Given the description of an element on the screen output the (x, y) to click on. 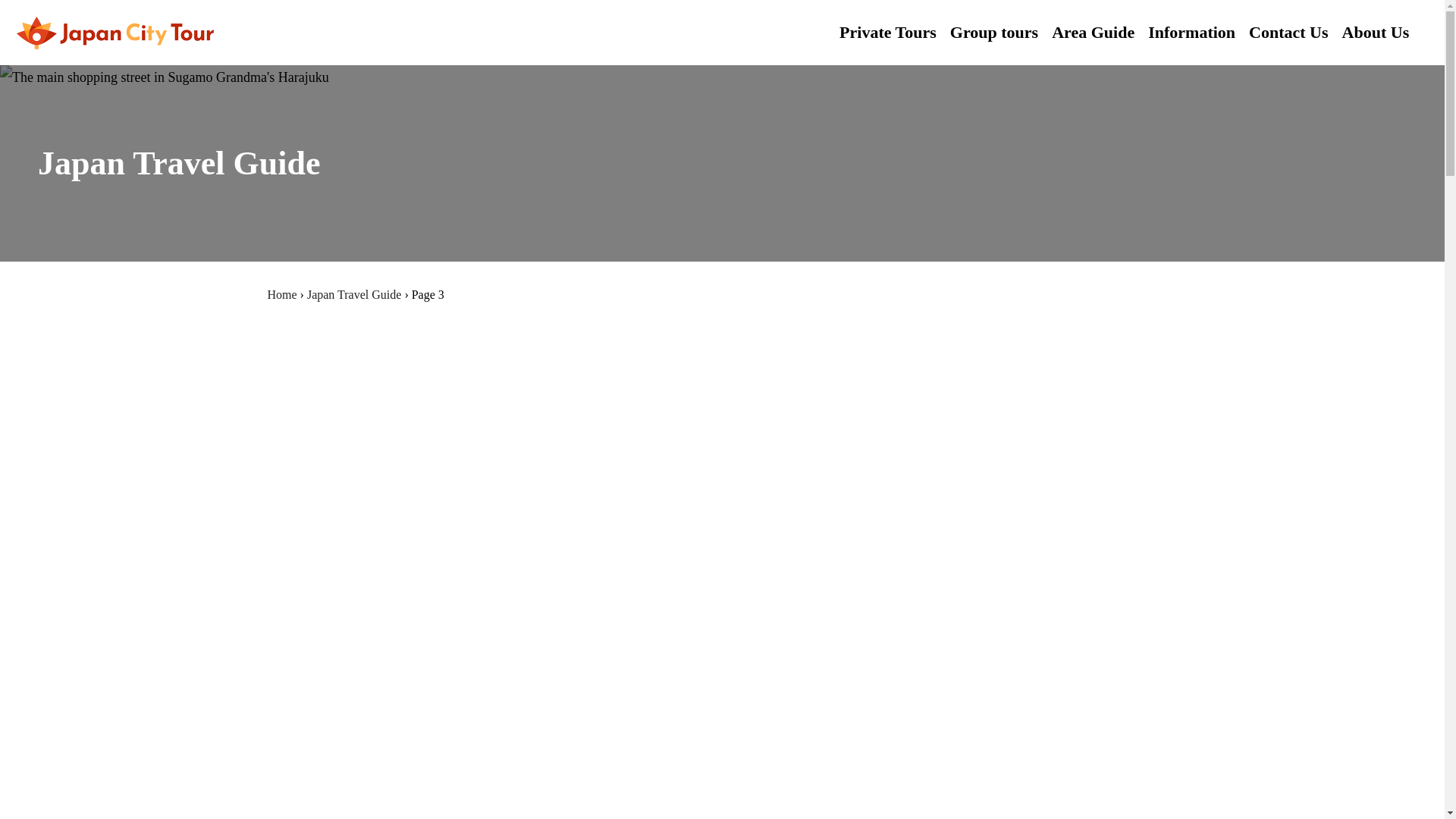
Home (281, 294)
About Us (1375, 32)
Information (1191, 32)
Area Guide (1092, 32)
Japan Travel Guide (354, 294)
Group tours (994, 32)
Home (281, 294)
Japan Travel Guide (354, 294)
Private Tours (888, 32)
Contact Us (1288, 32)
